Given the description of an element on the screen output the (x, y) to click on. 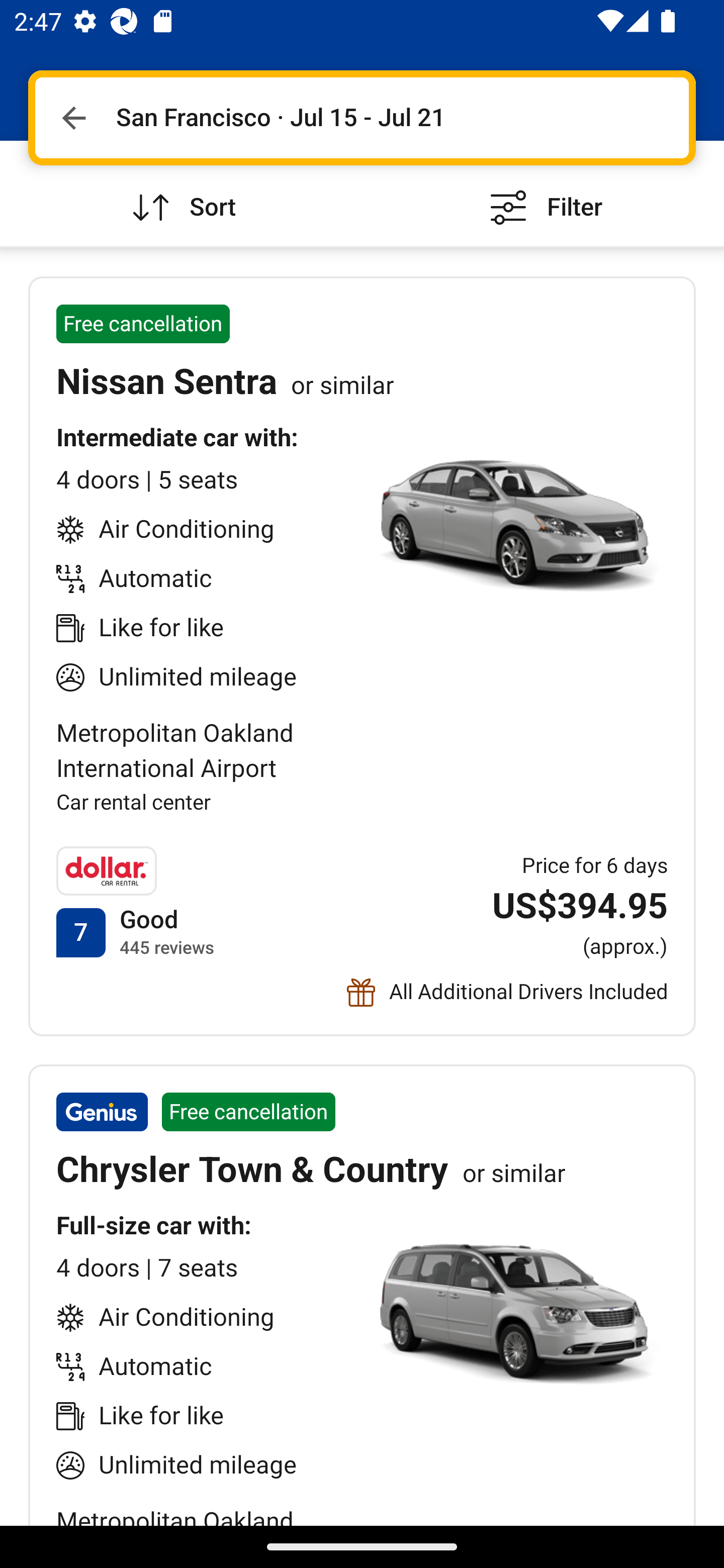
Back to previous screen (73, 117)
Sort (181, 193)
Filter (543, 193)
